Given the description of an element on the screen output the (x, y) to click on. 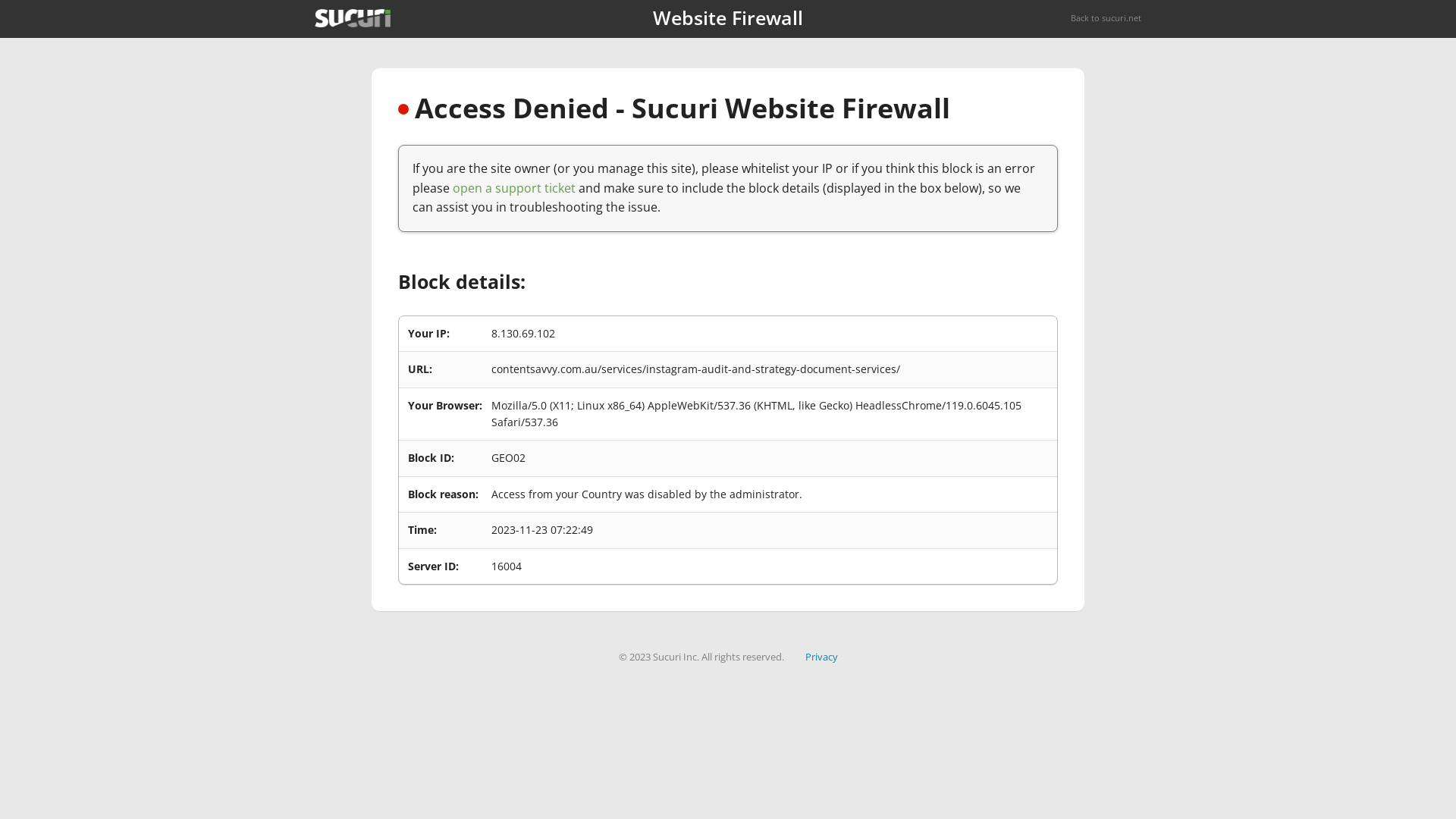
Privacy Element type: text (821, 656)
Back to sucuri.net Element type: text (1105, 18)
open a support ticket Element type: text (513, 187)
